Given the description of an element on the screen output the (x, y) to click on. 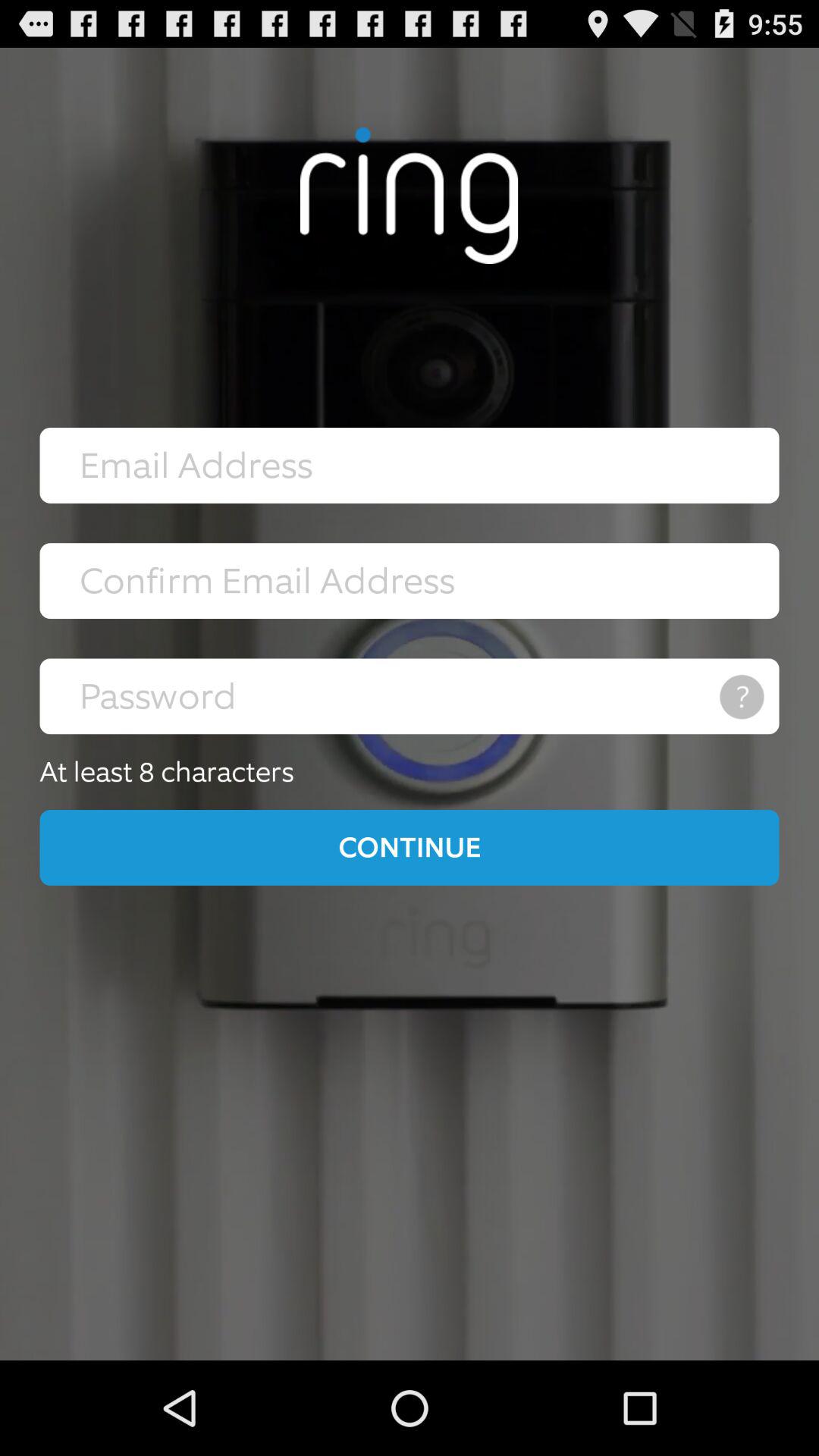
turn on continue icon (409, 847)
